Given the description of an element on the screen output the (x, y) to click on. 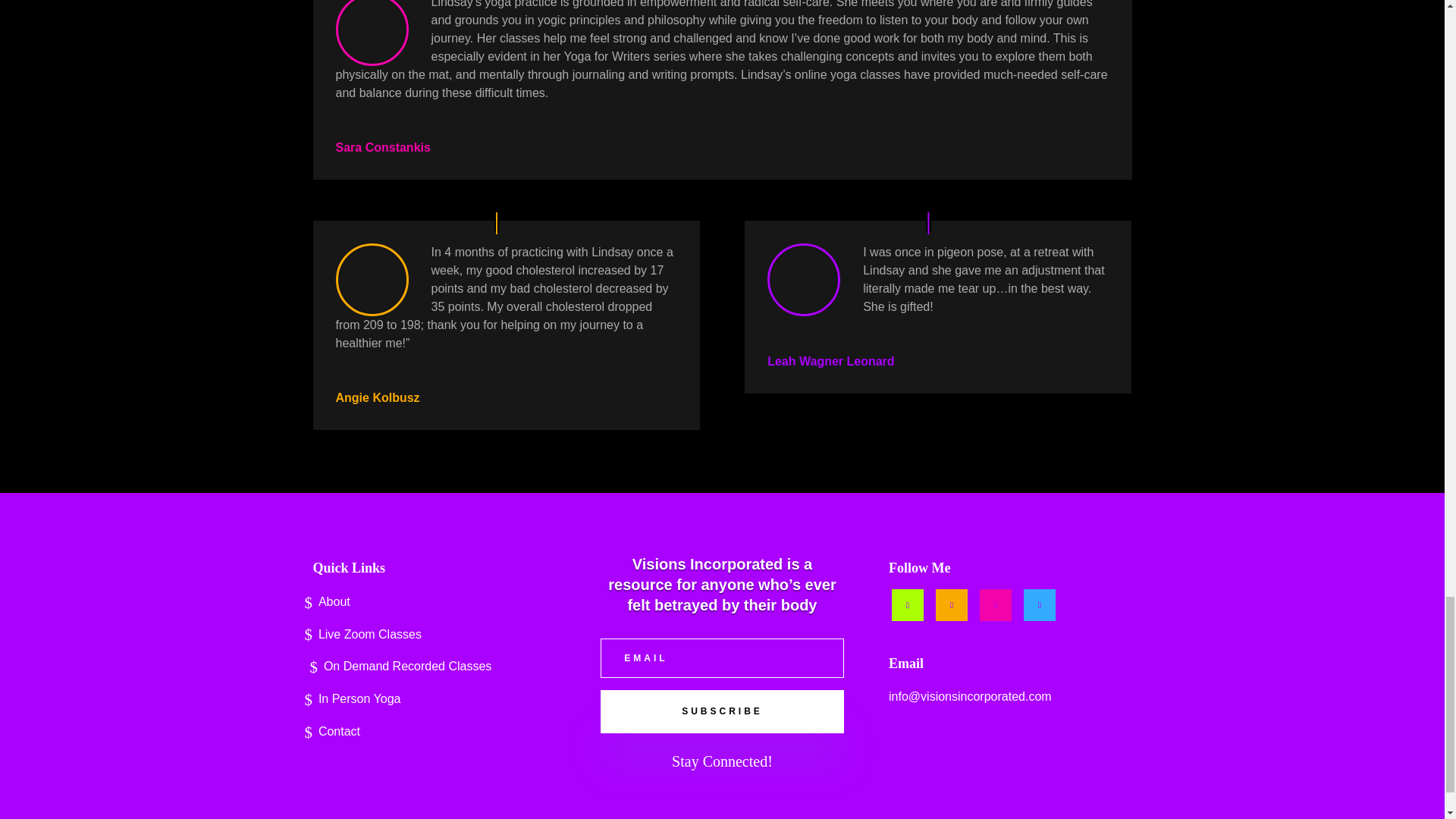
Follow on Instagram (1039, 604)
Contact (434, 734)
Follow on Facebook (907, 604)
On Demand Recorded Classes (434, 669)
In Person Yoga (434, 702)
SUBSCRIBE (721, 711)
Follow on Youtube (995, 604)
Live Zoom Classes (434, 638)
Follow on LinkedIn (952, 604)
About (434, 605)
